Given the description of an element on the screen output the (x, y) to click on. 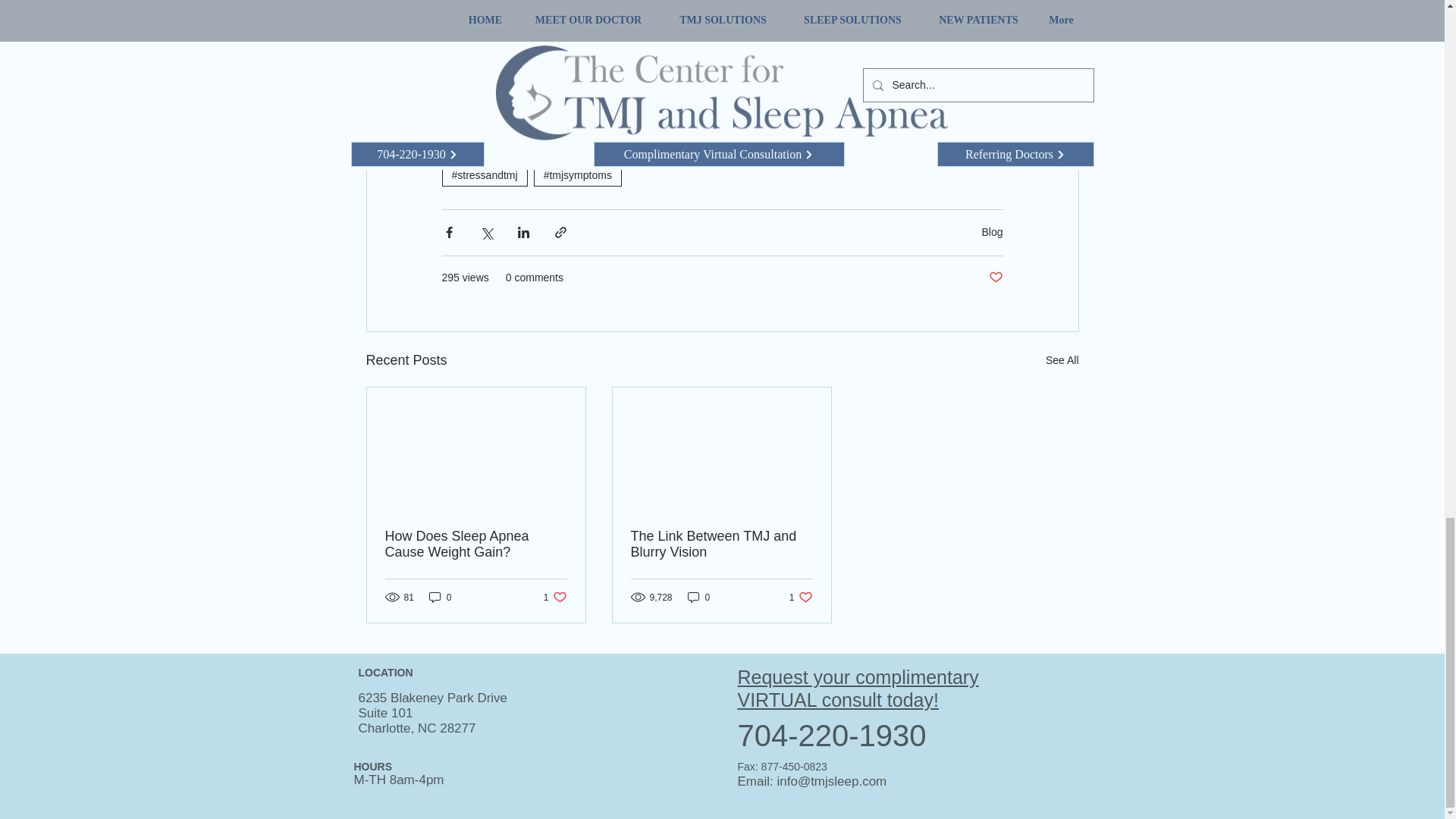
Blog (992, 232)
